Given the description of an element on the screen output the (x, y) to click on. 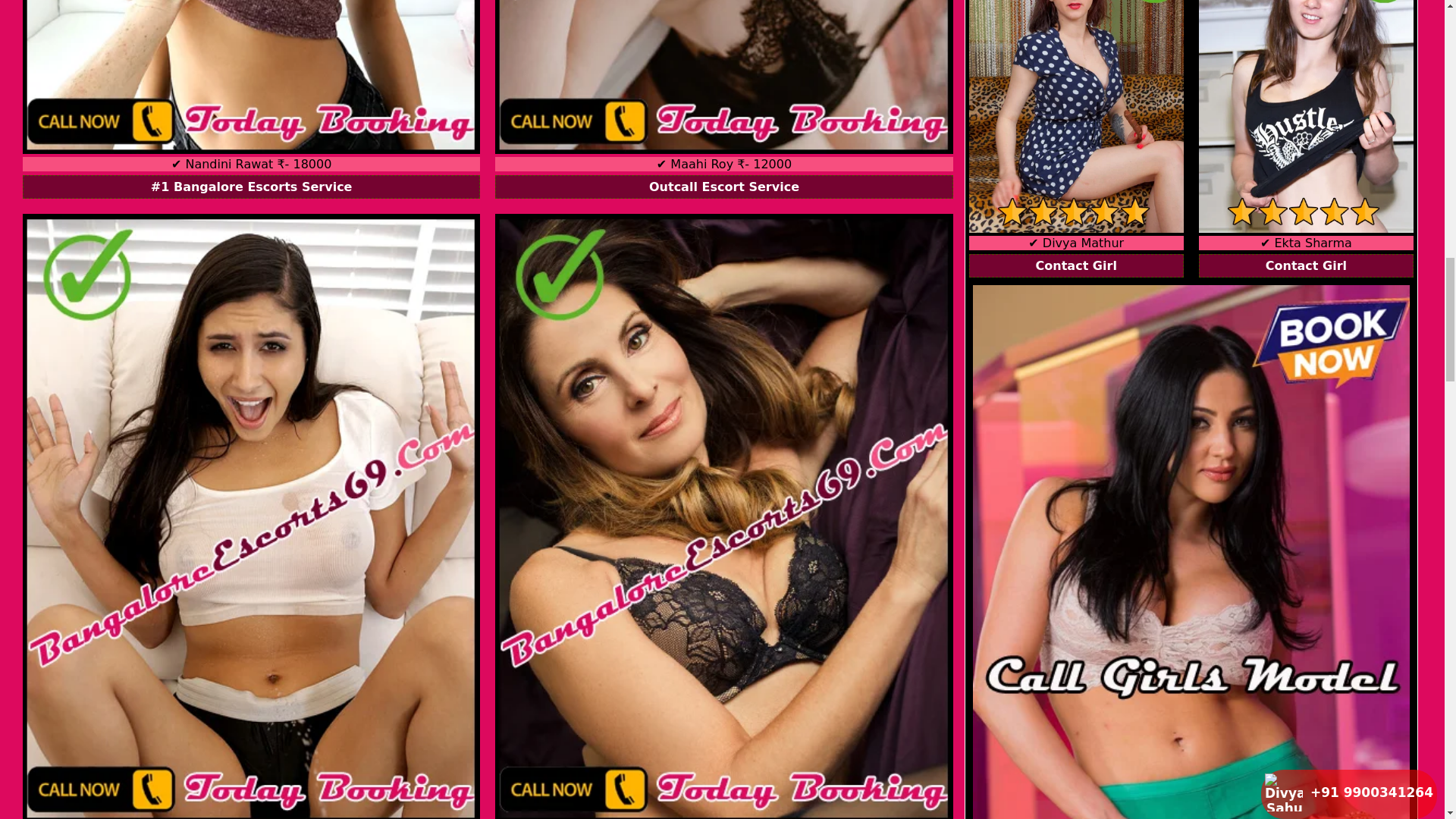
Contact Girl (1305, 265)
Contact Girl (1076, 265)
Outcall Escort Service (723, 187)
